Given the description of an element on the screen output the (x, y) to click on. 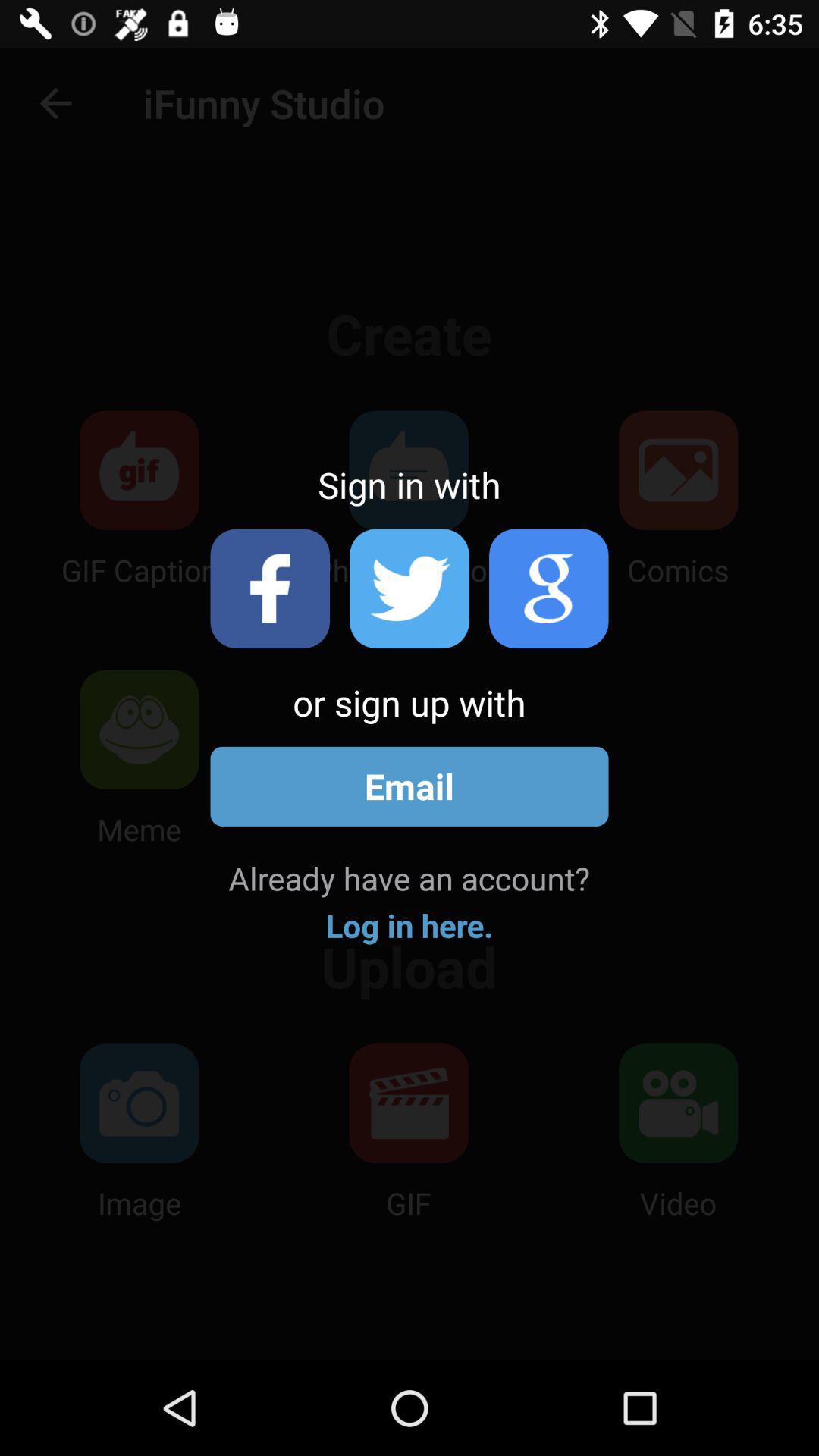
sign in with the twitter account (409, 588)
